Given the description of an element on the screen output the (x, y) to click on. 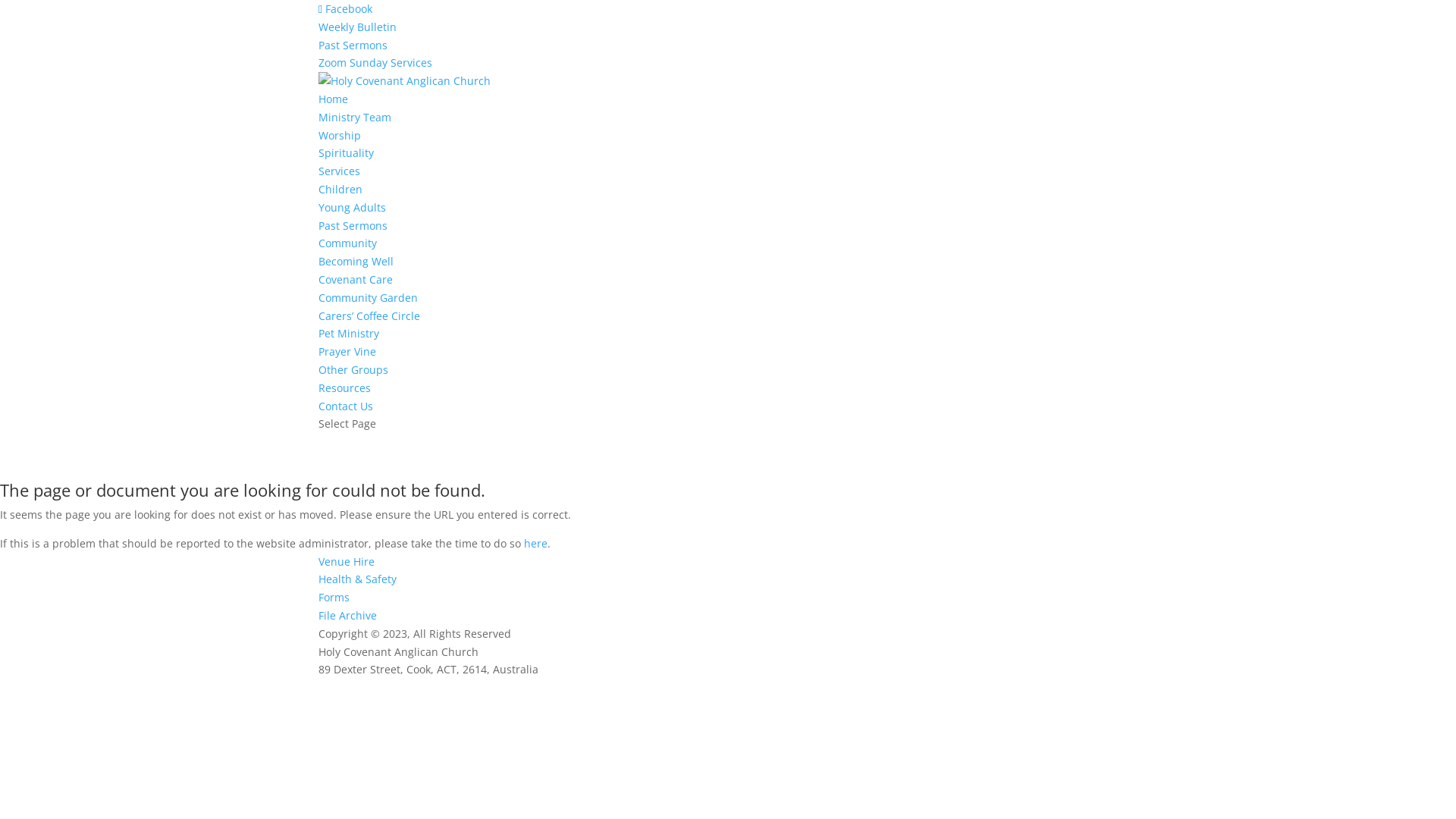
Community Garden Element type: text (367, 297)
Past Sermons Element type: text (352, 44)
Other Groups Element type: text (353, 369)
Past Sermons Element type: text (352, 225)
Venue Hire Element type: text (346, 561)
Covenant Care Element type: text (355, 279)
Community Element type: text (347, 242)
Resources Element type: text (344, 387)
Ministry Team Element type: text (354, 116)
Young Adults Element type: text (351, 207)
Weekly Bulletin Element type: text (357, 26)
Contact Us Element type: text (345, 405)
Children Element type: text (340, 189)
Prayer Vine Element type: text (347, 351)
here Element type: text (535, 543)
Facebook Element type: text (345, 8)
Home Element type: text (333, 98)
Spirituality Element type: text (345, 152)
Forms Element type: text (333, 596)
Pet Ministry Element type: text (348, 333)
Worship Element type: text (339, 135)
Health & Safety Element type: text (357, 578)
File Archive Element type: text (347, 615)
Becoming Well Element type: text (355, 261)
Zoom Sunday Services Element type: text (375, 62)
Services Element type: text (339, 170)
